Given the description of an element on the screen output the (x, y) to click on. 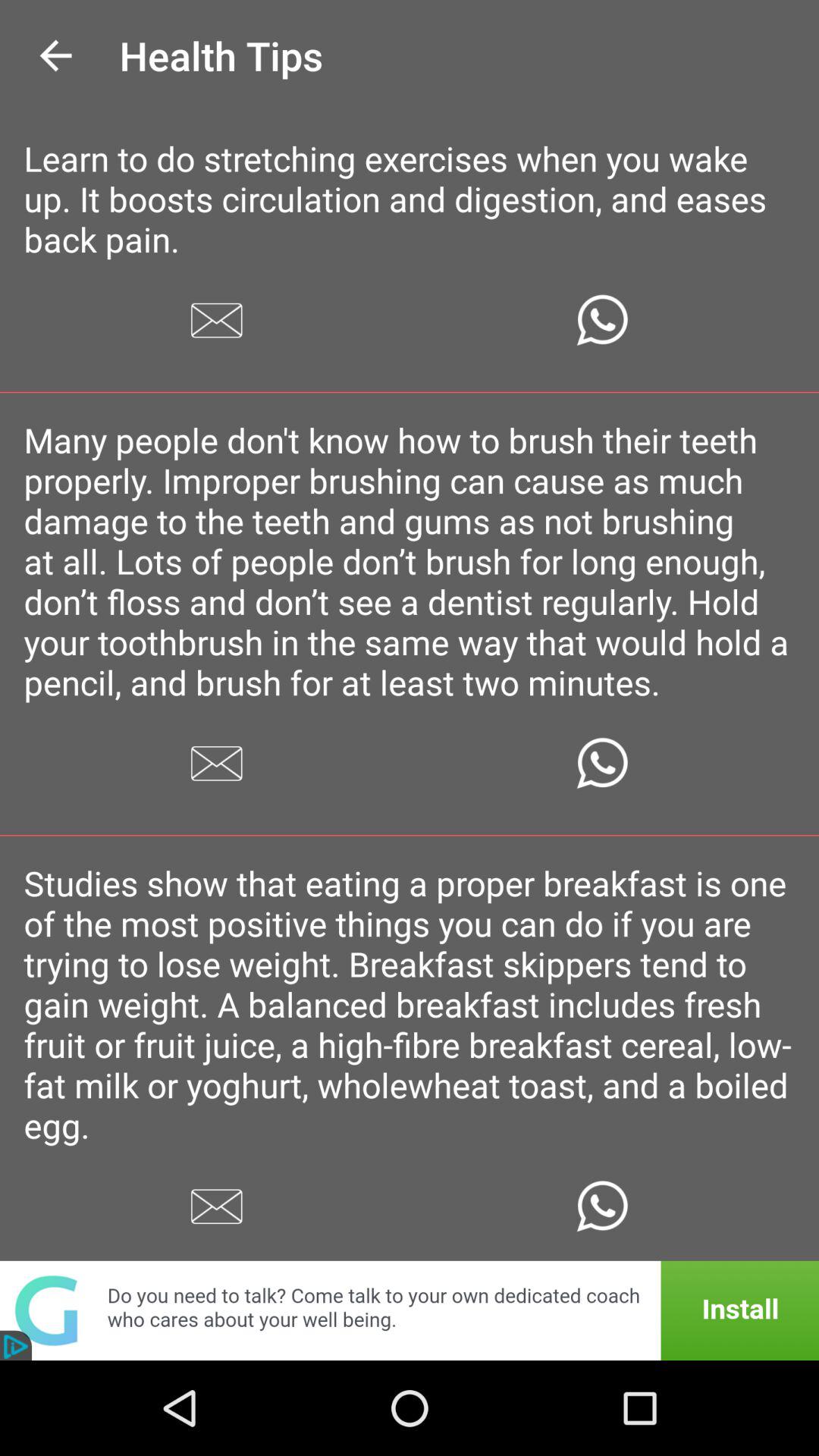
swipe until the many people don icon (409, 560)
